Given the description of an element on the screen output the (x, y) to click on. 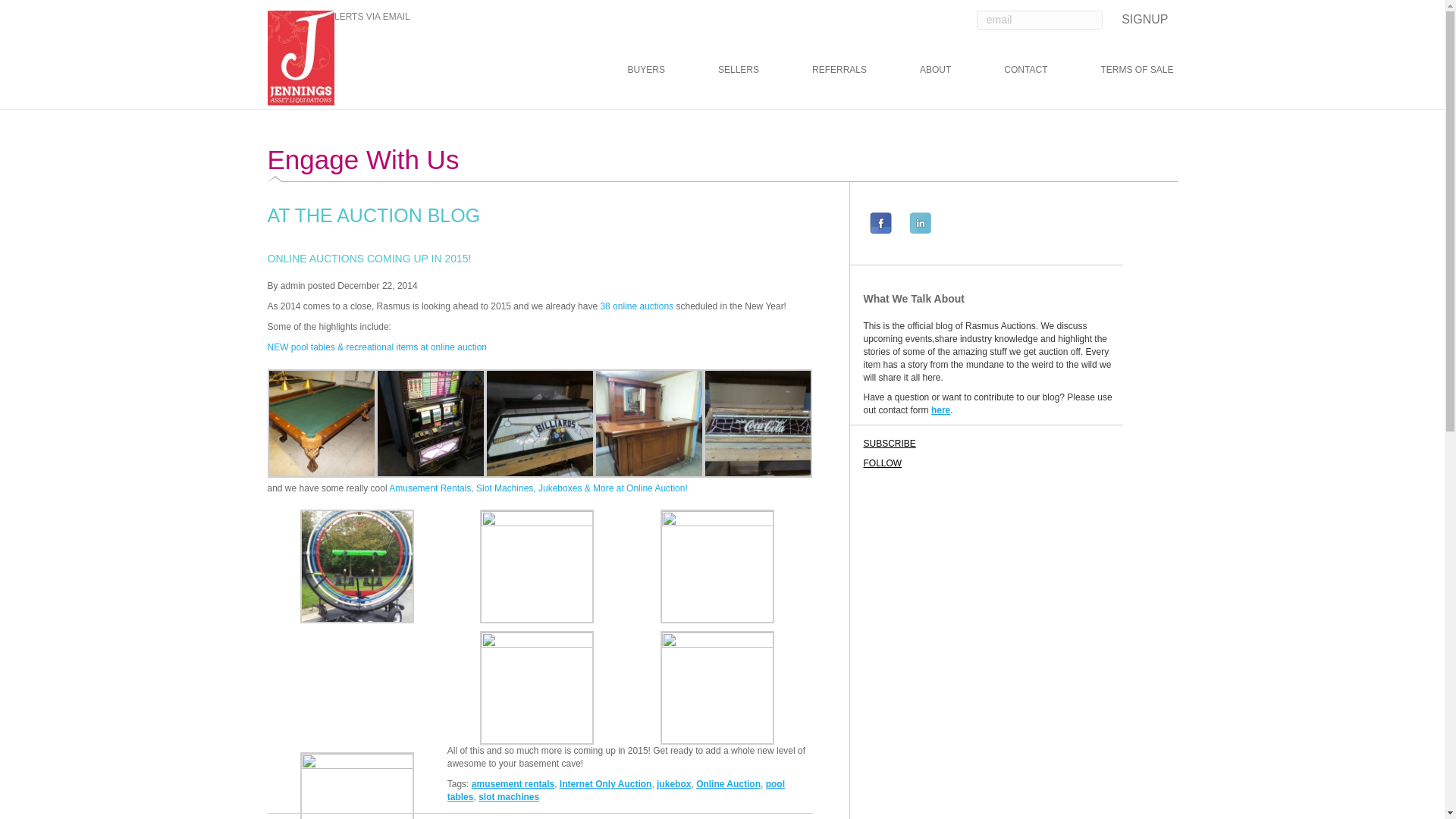
ABOUT (935, 68)
Internet Only Auction (605, 783)
CONTACT (1025, 68)
REFERRALS (839, 68)
jukebox (673, 783)
SELLERS (738, 68)
slot machines (508, 796)
FOLLOW (908, 462)
SIGNUP (1144, 16)
BUYERS (646, 68)
